Given the description of an element on the screen output the (x, y) to click on. 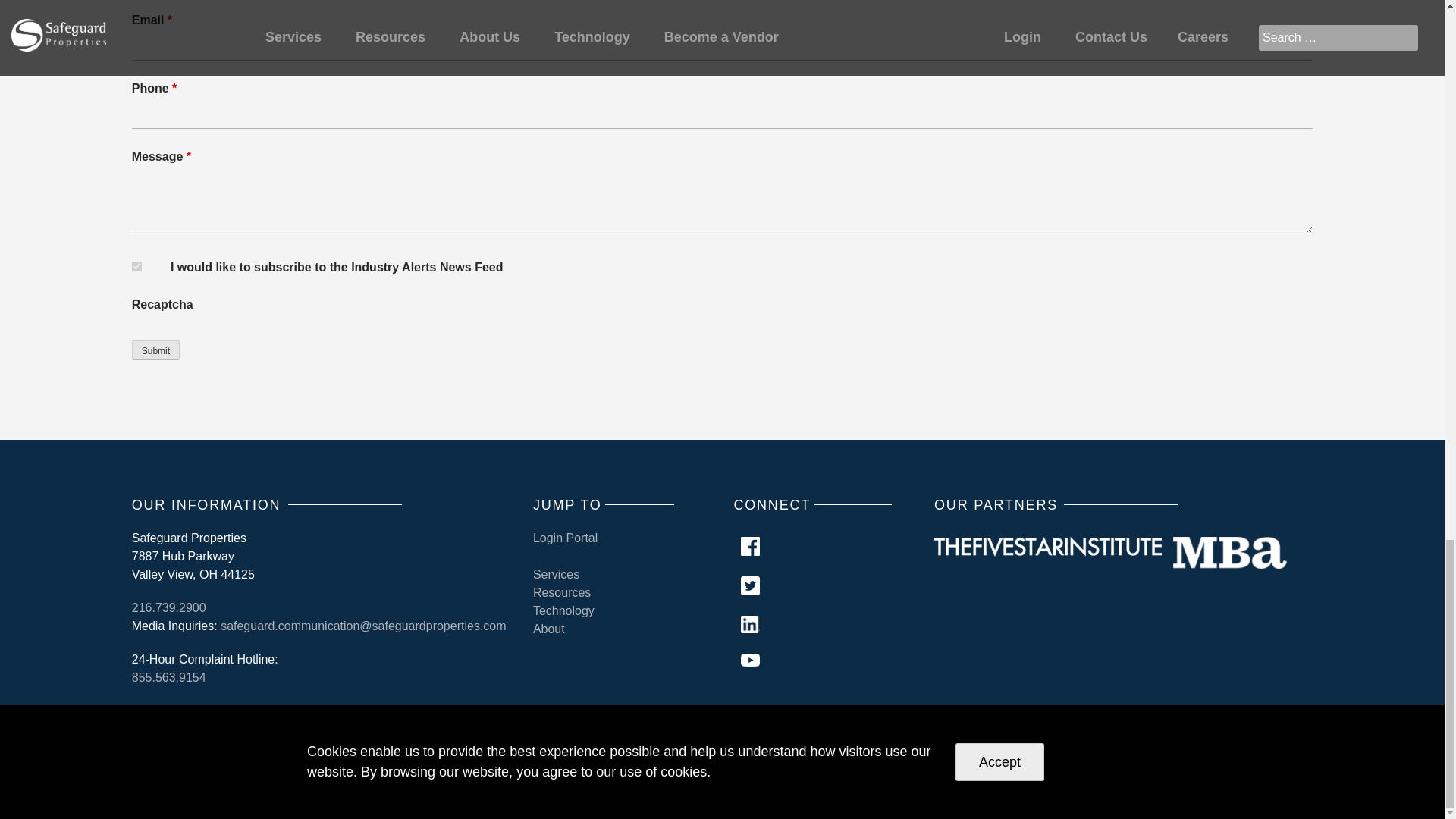
1 (136, 266)
Submit (155, 350)
